Given the description of an element on the screen output the (x, y) to click on. 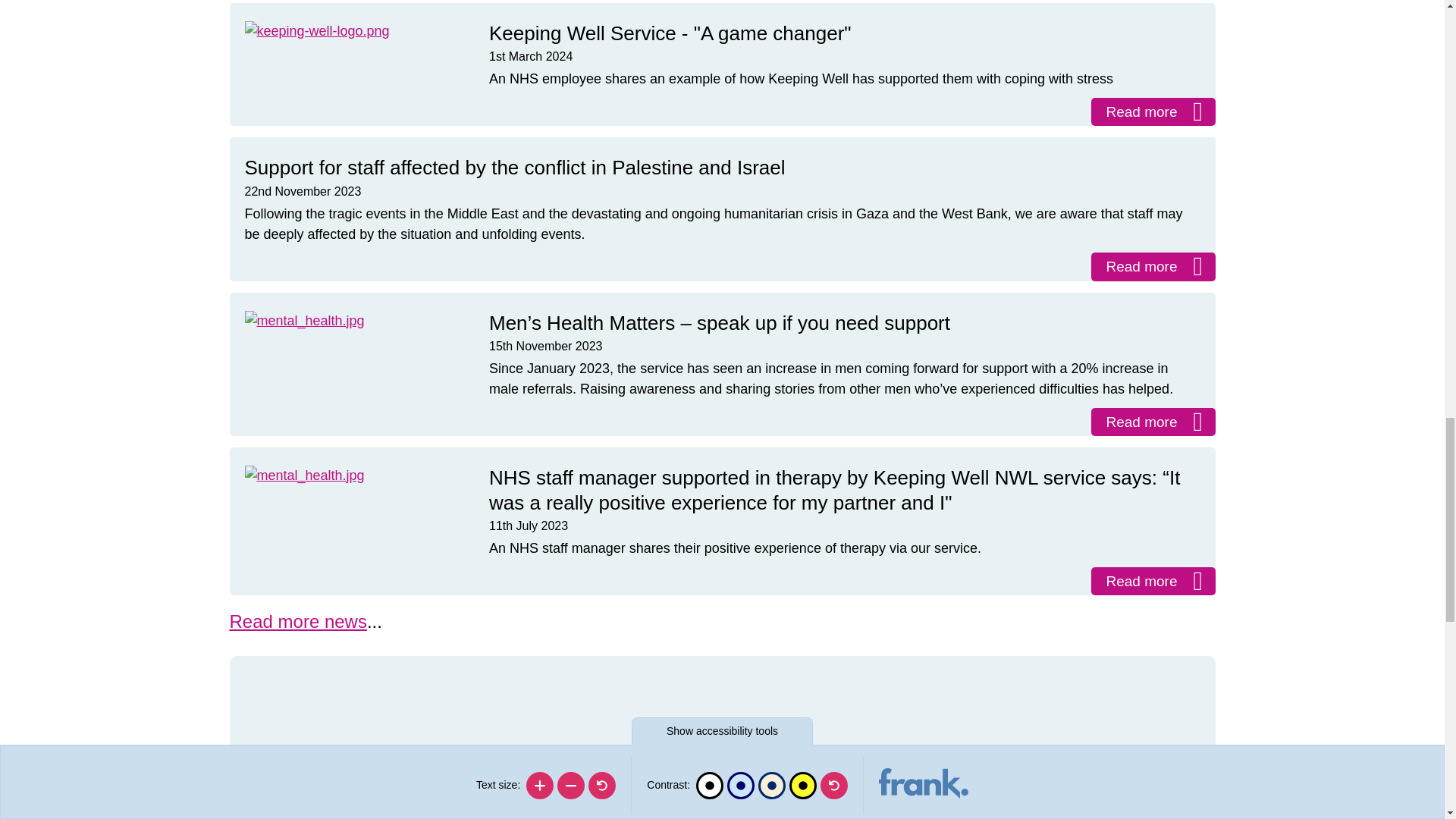
Keeping Well Service - "A game changer" (316, 37)
Keeping Well Service - "A game changer" (1152, 111)
